Given the description of an element on the screen output the (x, y) to click on. 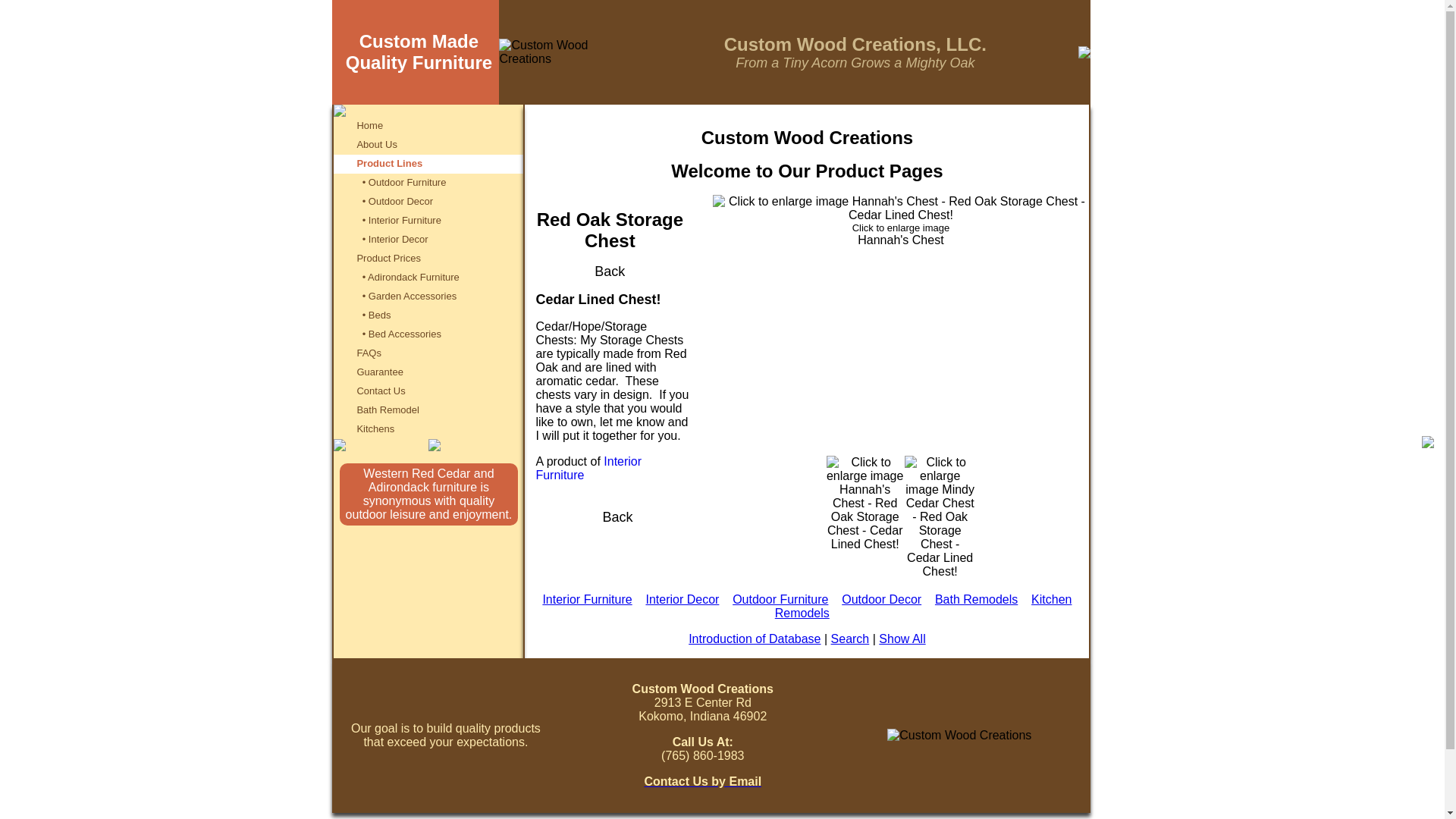
Introduction of Database (754, 638)
Outdoor Decor (881, 599)
Bath Remodels (975, 599)
Product Prices (388, 256)
FAQs (368, 351)
About Us (376, 143)
Interior Furniture (586, 599)
Bath Remodel (387, 408)
Interior Furniture (588, 468)
Contact Us (380, 390)
